Given the description of an element on the screen output the (x, y) to click on. 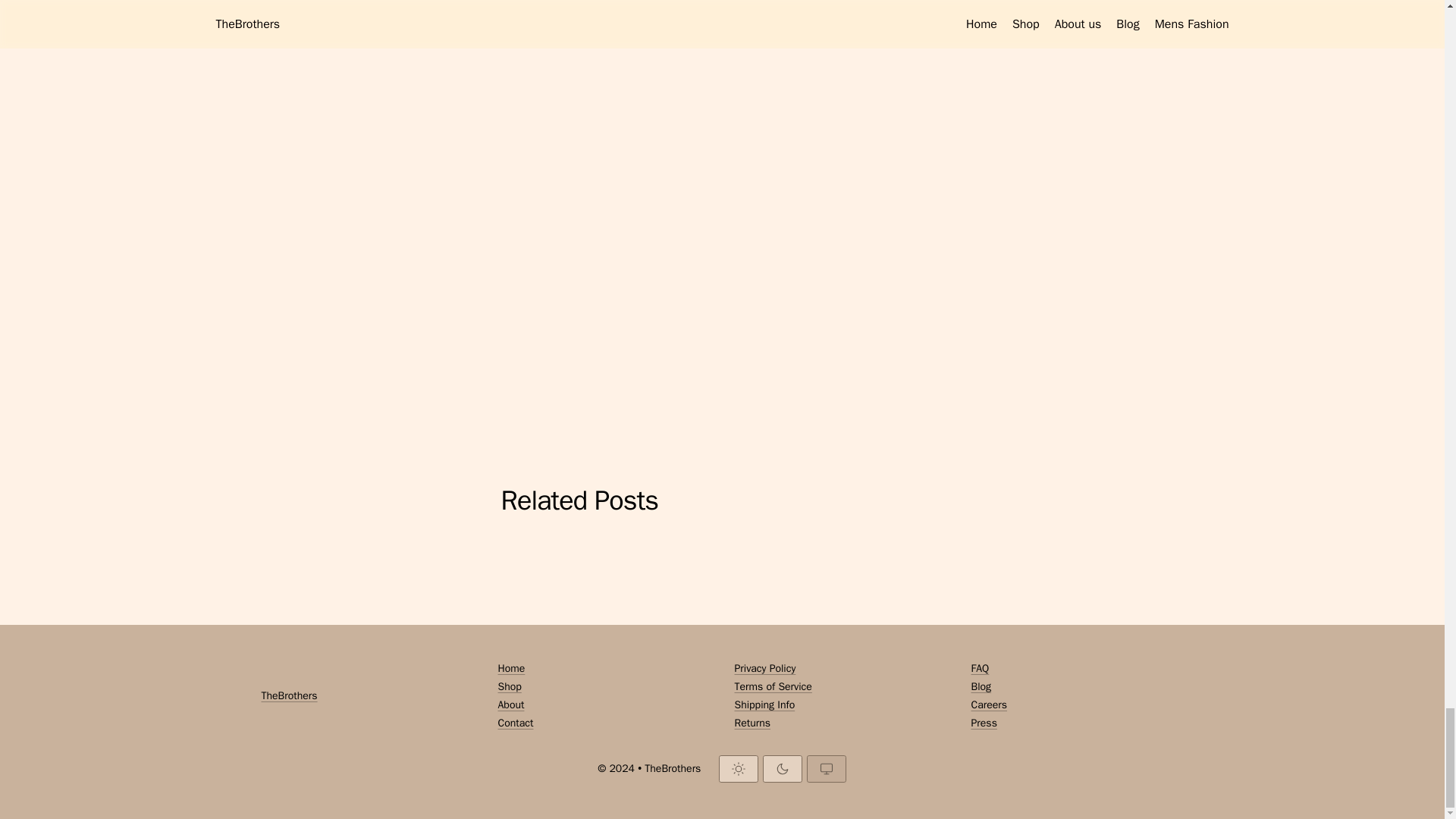
Home (603, 668)
TheBrothers (288, 695)
Press (1076, 723)
Terms of Service (839, 686)
Privacy Policy (839, 668)
Returns (839, 723)
Blog (1076, 686)
Contact (603, 723)
Shipping Info (839, 704)
About (603, 704)
